Given the description of an element on the screen output the (x, y) to click on. 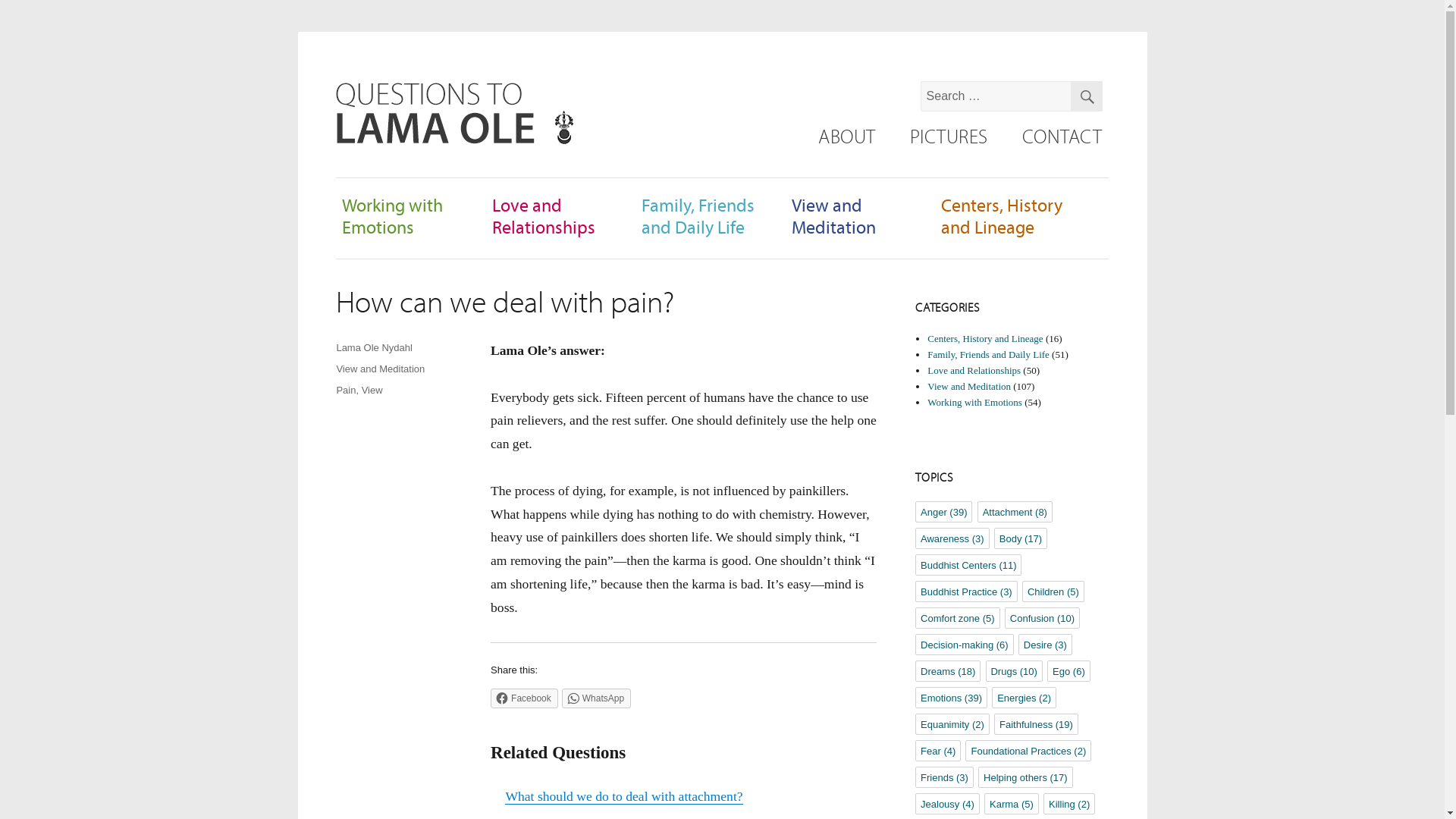
Centers, History and Lineage (1001, 216)
Family, Friends and Daily Life (988, 354)
View and Meditation (968, 386)
ABOUT (847, 136)
SEARCH (1086, 96)
Family, Friends and Daily Life (698, 216)
Working with Emotions (974, 401)
Click to share on Facebook (523, 698)
CONTACT (1061, 136)
PICTURES (948, 136)
View and Meditation (380, 368)
Working with Emotions (392, 216)
Love and Relationships (973, 369)
Centers, History and Lineage (984, 337)
What should we do to deal with attachment? (623, 795)
